Given the description of an element on the screen output the (x, y) to click on. 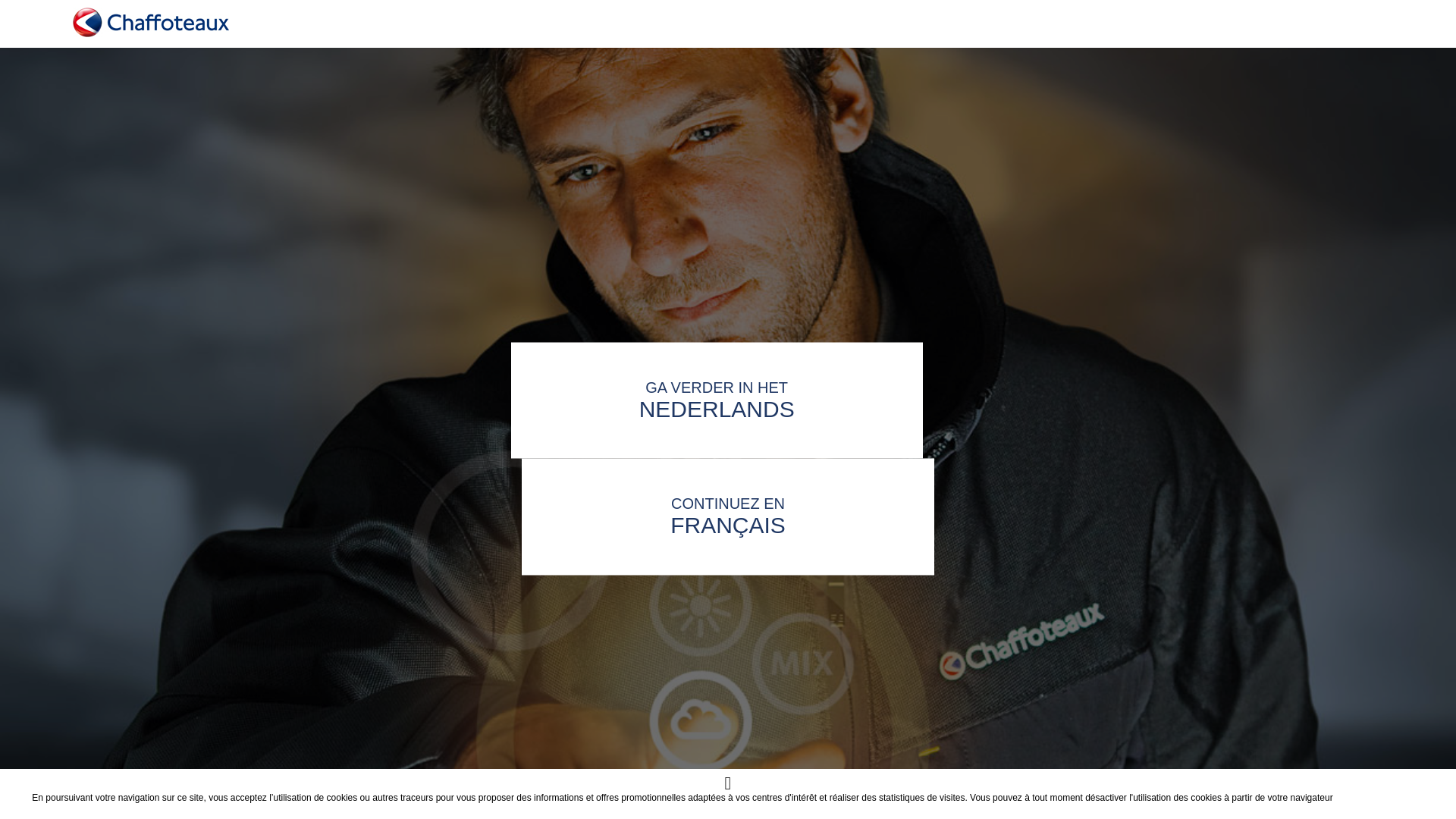
GA VERDER IN HET
NEDERLANDS Element type: text (728, 411)
ARISTON THERMO GROUP Element type: text (742, 797)
